Given the description of an element on the screen output the (x, y) to click on. 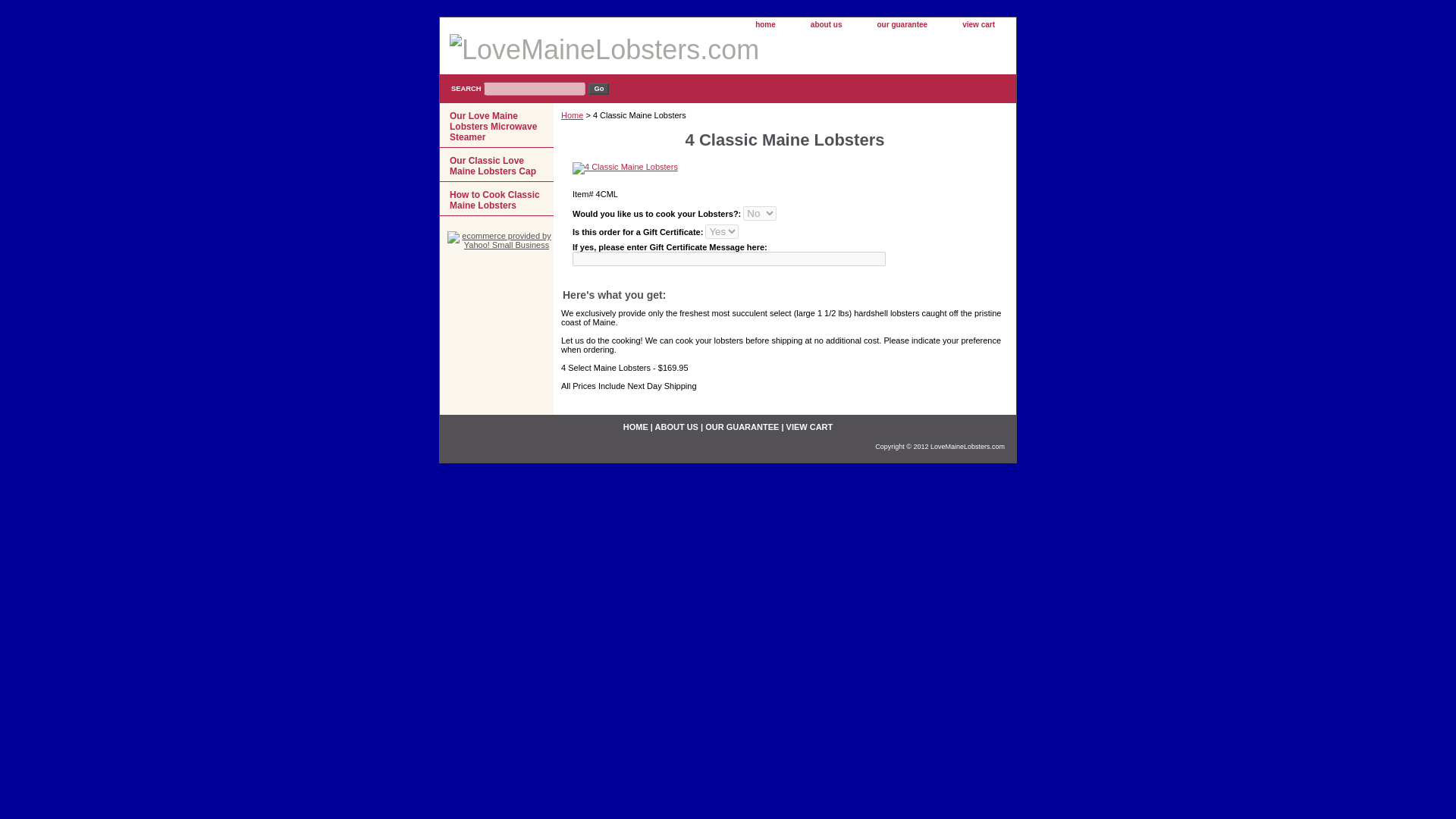
Our Love Maine Lobsters Microwave Steamer (496, 125)
ABOUT US (676, 426)
HOME (635, 426)
Our Love Maine Lobsters Microwave Steamer (496, 125)
VIEW CART (809, 426)
view cart (978, 25)
4 Classic Maine Lobsters (625, 168)
home (764, 25)
about us (825, 25)
Go (598, 88)
